Given the description of an element on the screen output the (x, y) to click on. 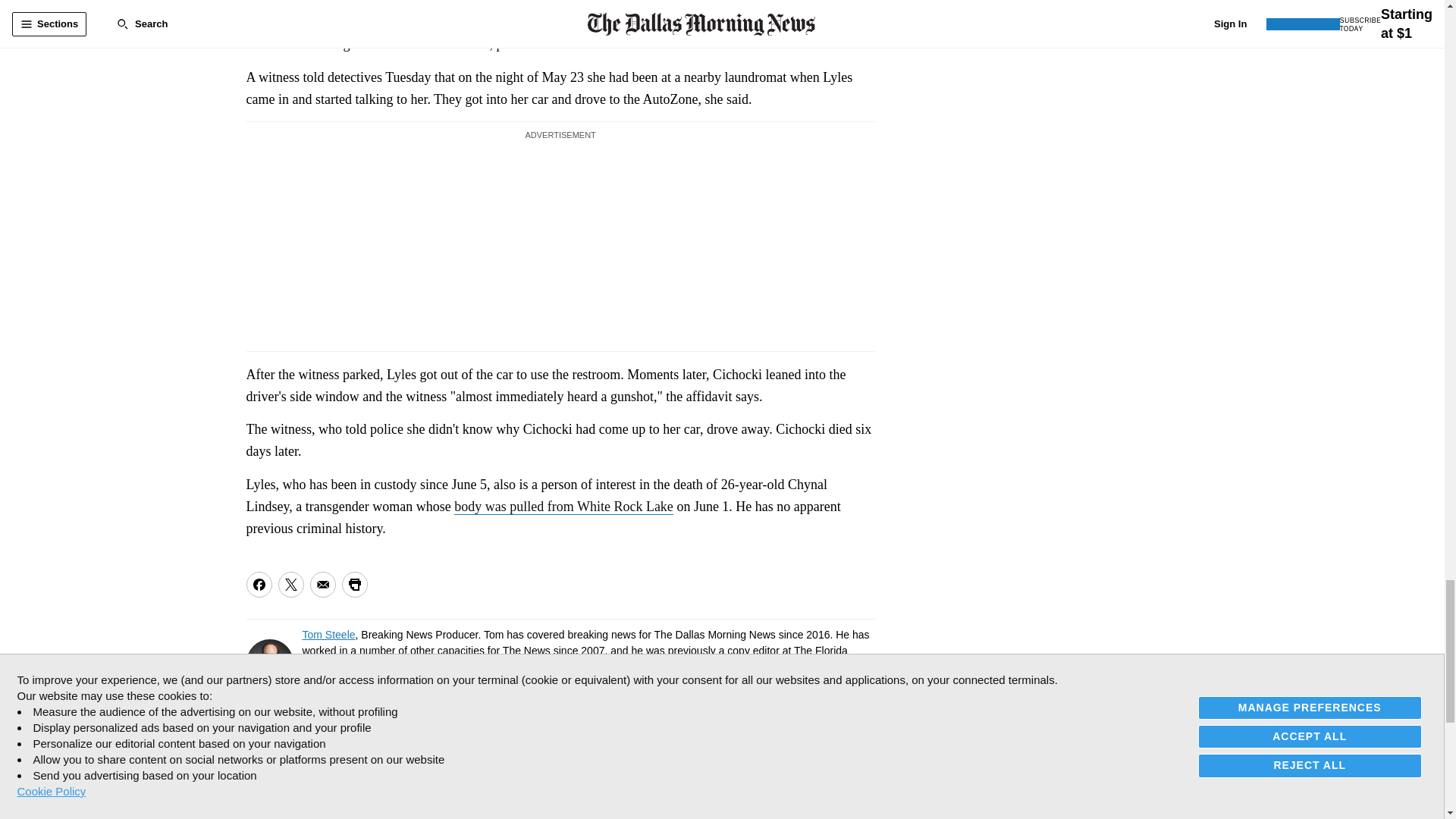
Share on Facebook (258, 584)
Share on Twitter (290, 584)
Share via Email (321, 584)
Print (353, 584)
